Given the description of an element on the screen output the (x, y) to click on. 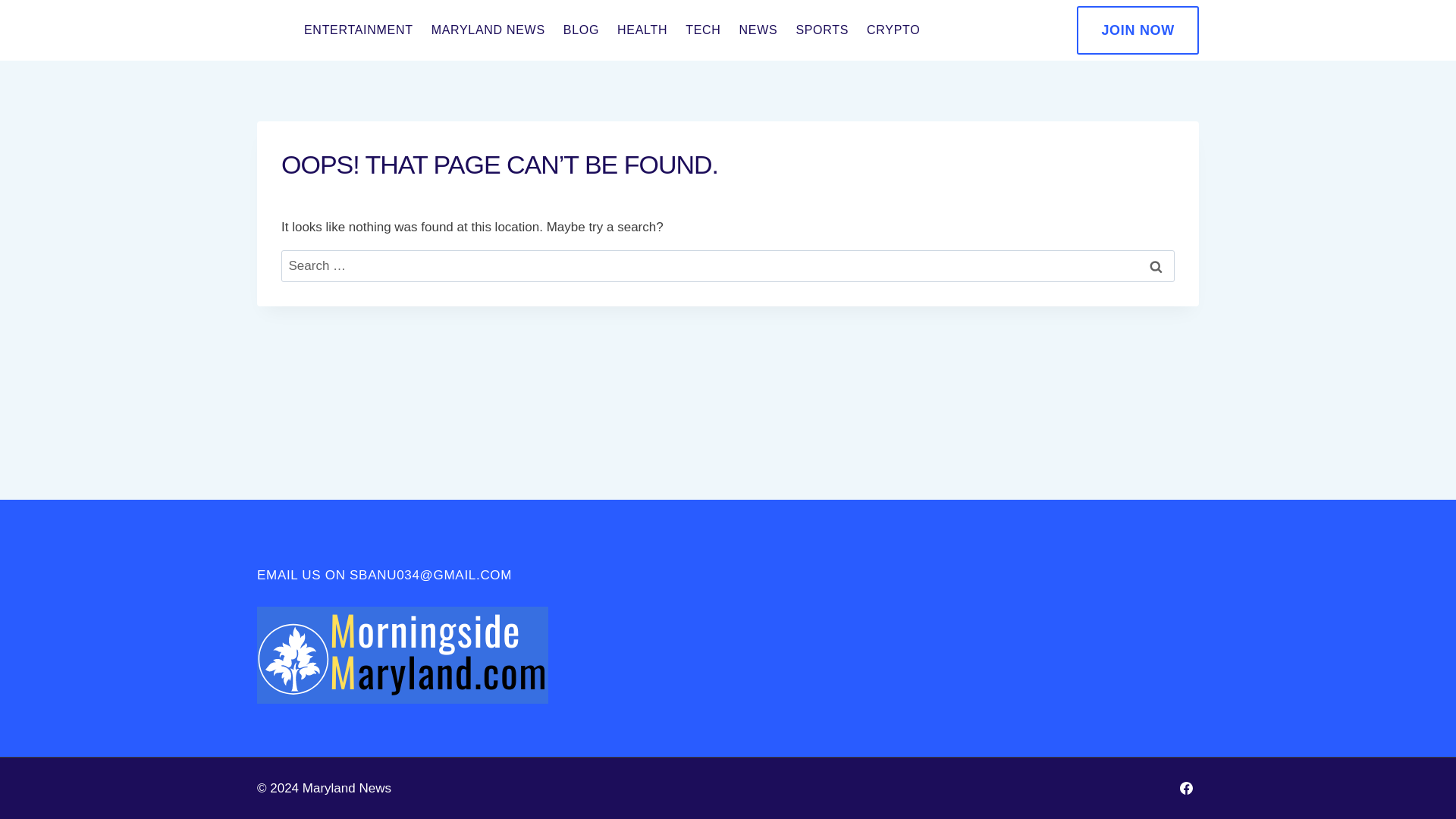
ENTERTAINMENT (358, 30)
HEALTH (642, 30)
NEWS (758, 30)
SPORTS (821, 30)
Search (1155, 266)
MARYLAND NEWS (488, 30)
Search (1155, 266)
BLOG (581, 30)
CRYPTO (892, 30)
JOIN NOW (1137, 30)
